Given the description of an element on the screen output the (x, y) to click on. 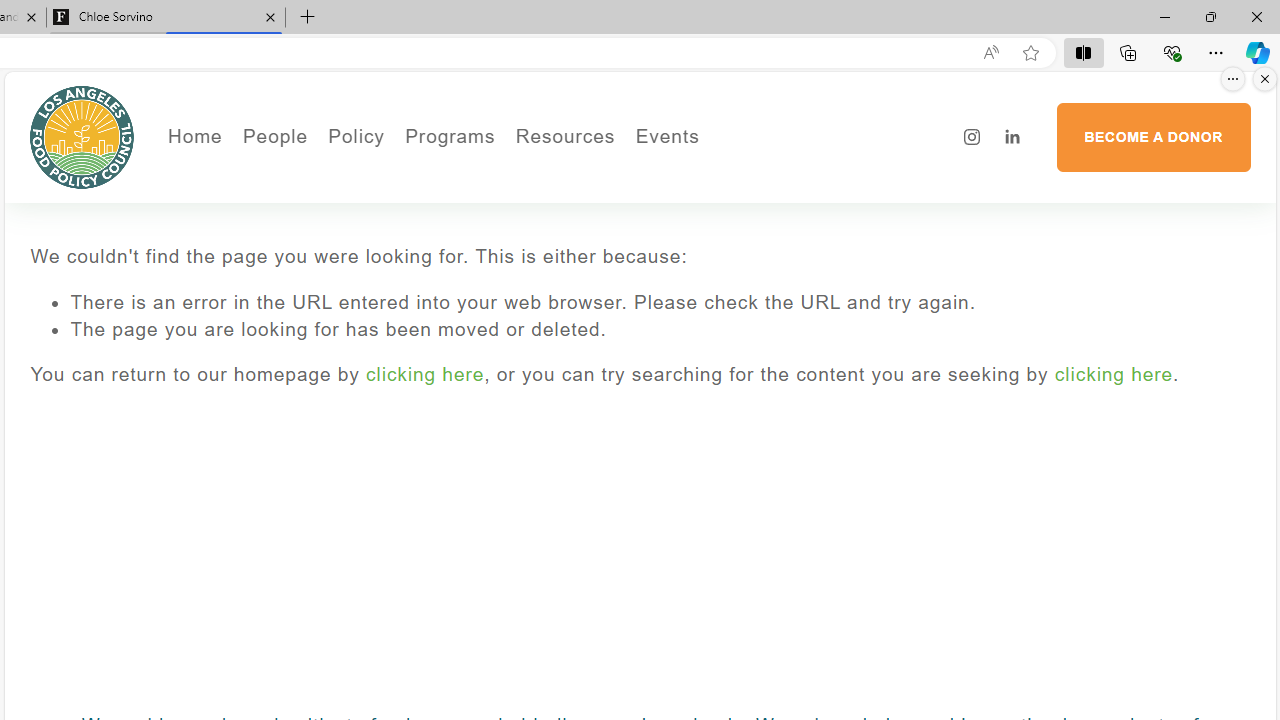
Food Leaders Lab (468, 232)
Reports (341, 290)
Working Groups and Alliances (468, 176)
More options. (1233, 79)
SoCal Impact Food Fund (643, 205)
Publications (468, 205)
clicking here (1113, 374)
Home (194, 136)
Farm Fresh LA (504, 205)
Programs (450, 136)
